Given the description of an element on the screen output the (x, y) to click on. 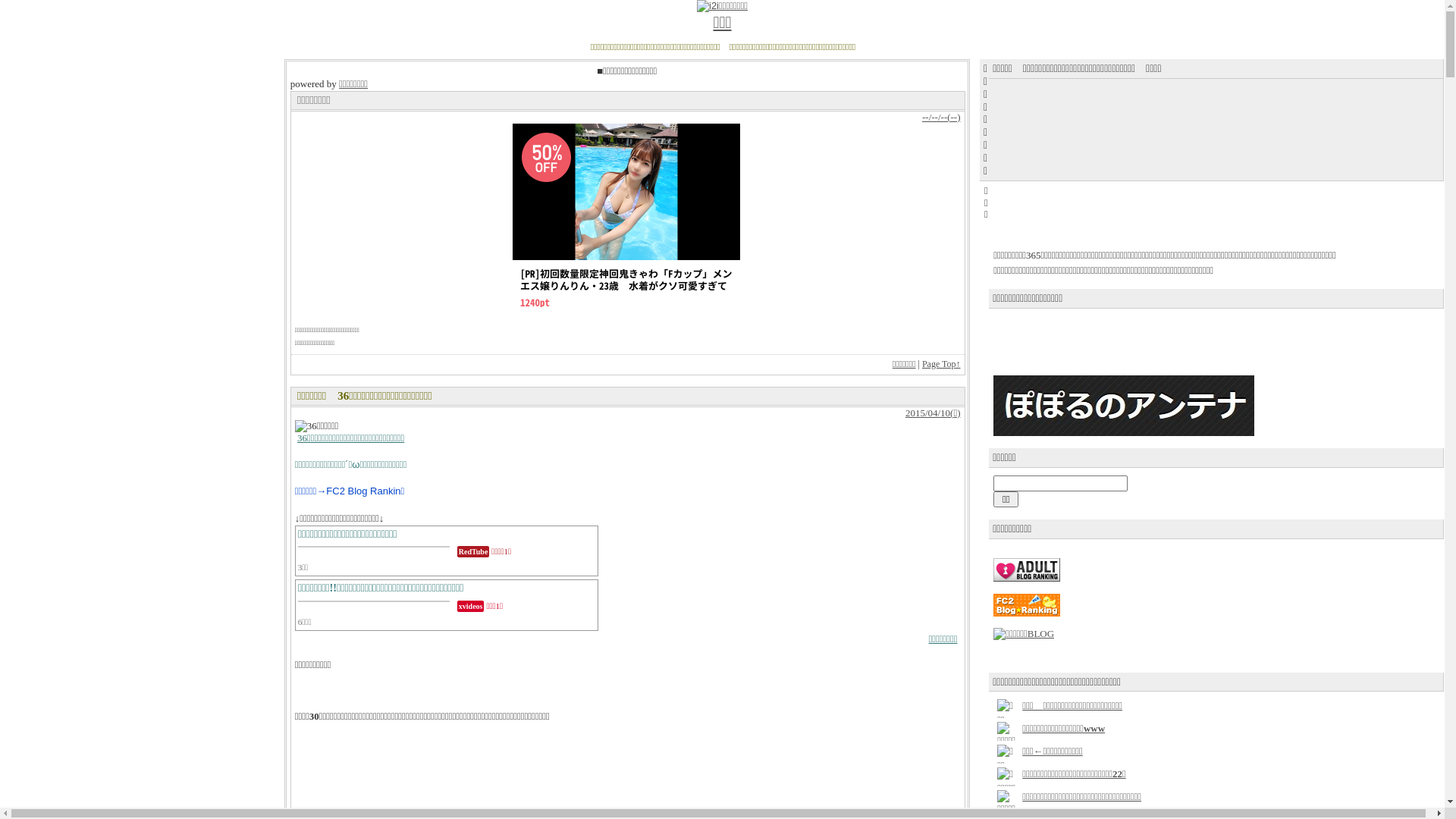
--/--/--(--) Element type: text (941, 116)
